Given the description of an element on the screen output the (x, y) to click on. 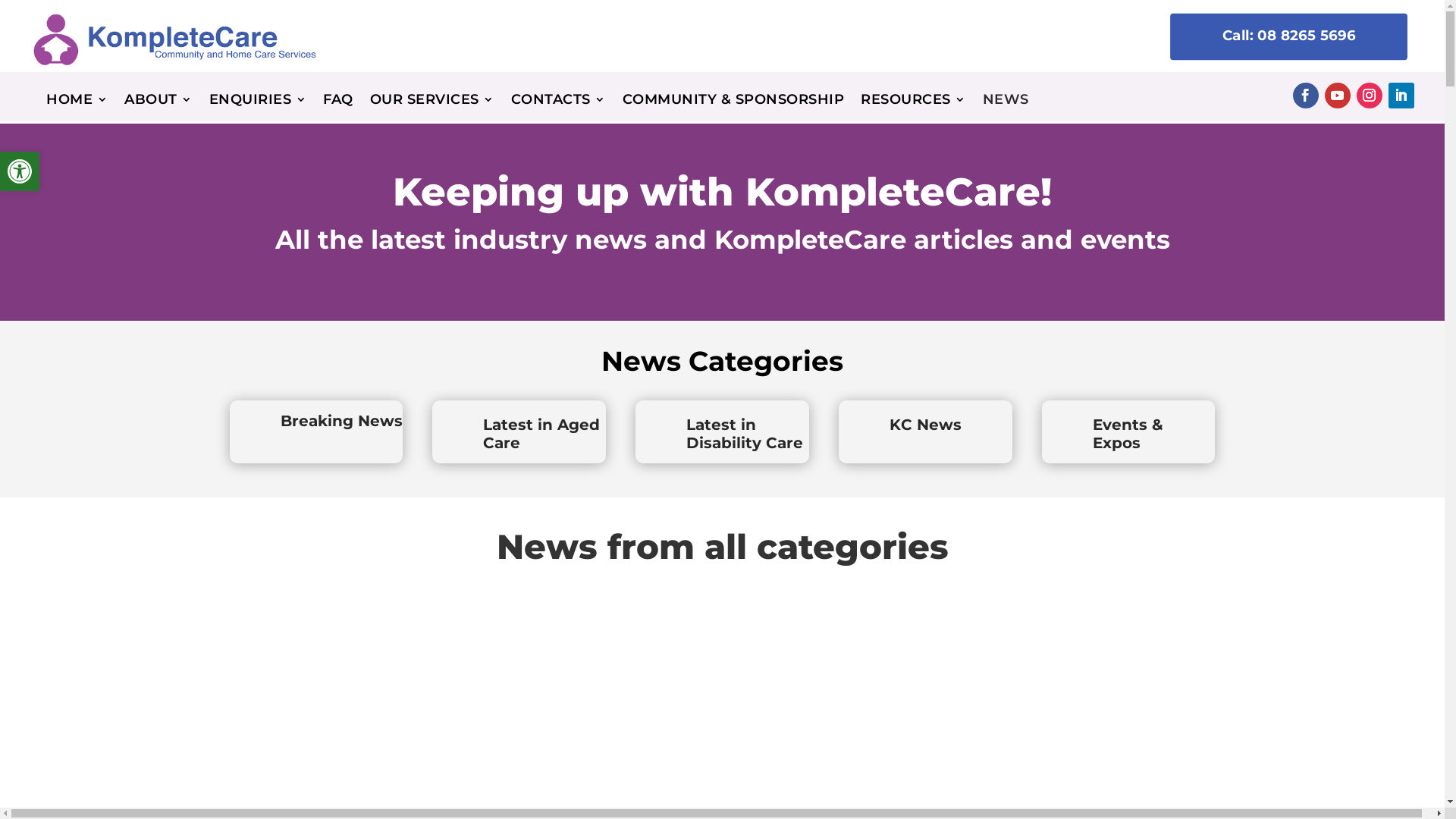
Follow on Facebook Element type: hover (1305, 95)
Follow on Youtube Element type: hover (1337, 95)
COMMUNITY & SPONSORSHIP Element type: text (733, 102)
HOME Element type: text (76, 102)
ENQUIRIES Element type: text (258, 102)
Follow on Instagram Element type: hover (1369, 95)
RESOURCES Element type: text (913, 102)
OUR SERVICES Element type: text (432, 102)
FAQ Element type: text (338, 102)
ABOUT Element type: text (158, 102)
NEWS Element type: text (1005, 102)
CONTACTS Element type: text (558, 102)
komplete-care-logo-top-page2 Element type: hover (166, 36)
Open toolbar
Accessibility Tools Element type: text (19, 171)
Follow on LinkedIn Element type: hover (1401, 95)
